Given the description of an element on the screen output the (x, y) to click on. 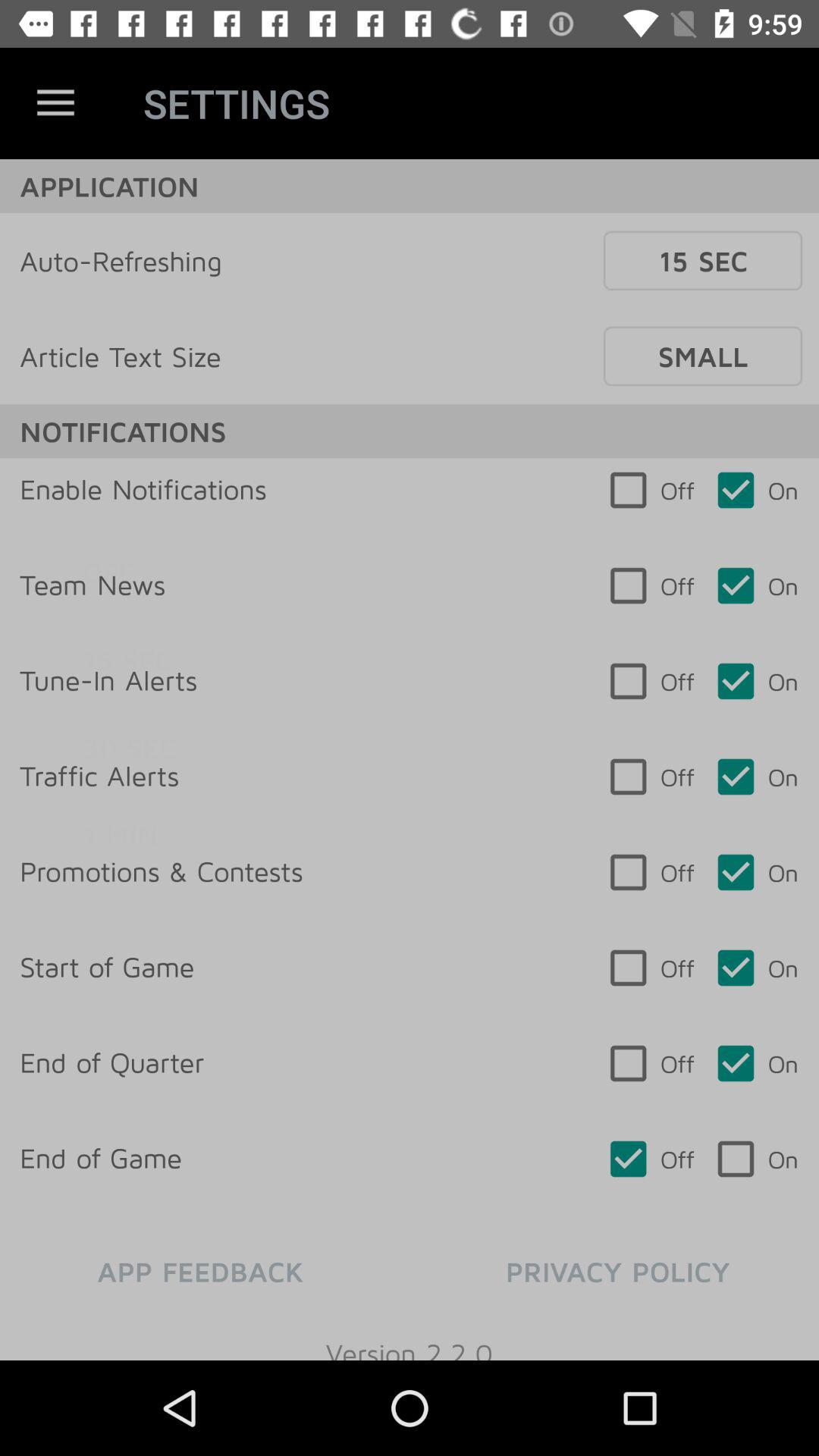
launch the icon to the left of the settings item (55, 103)
